Given the description of an element on the screen output the (x, y) to click on. 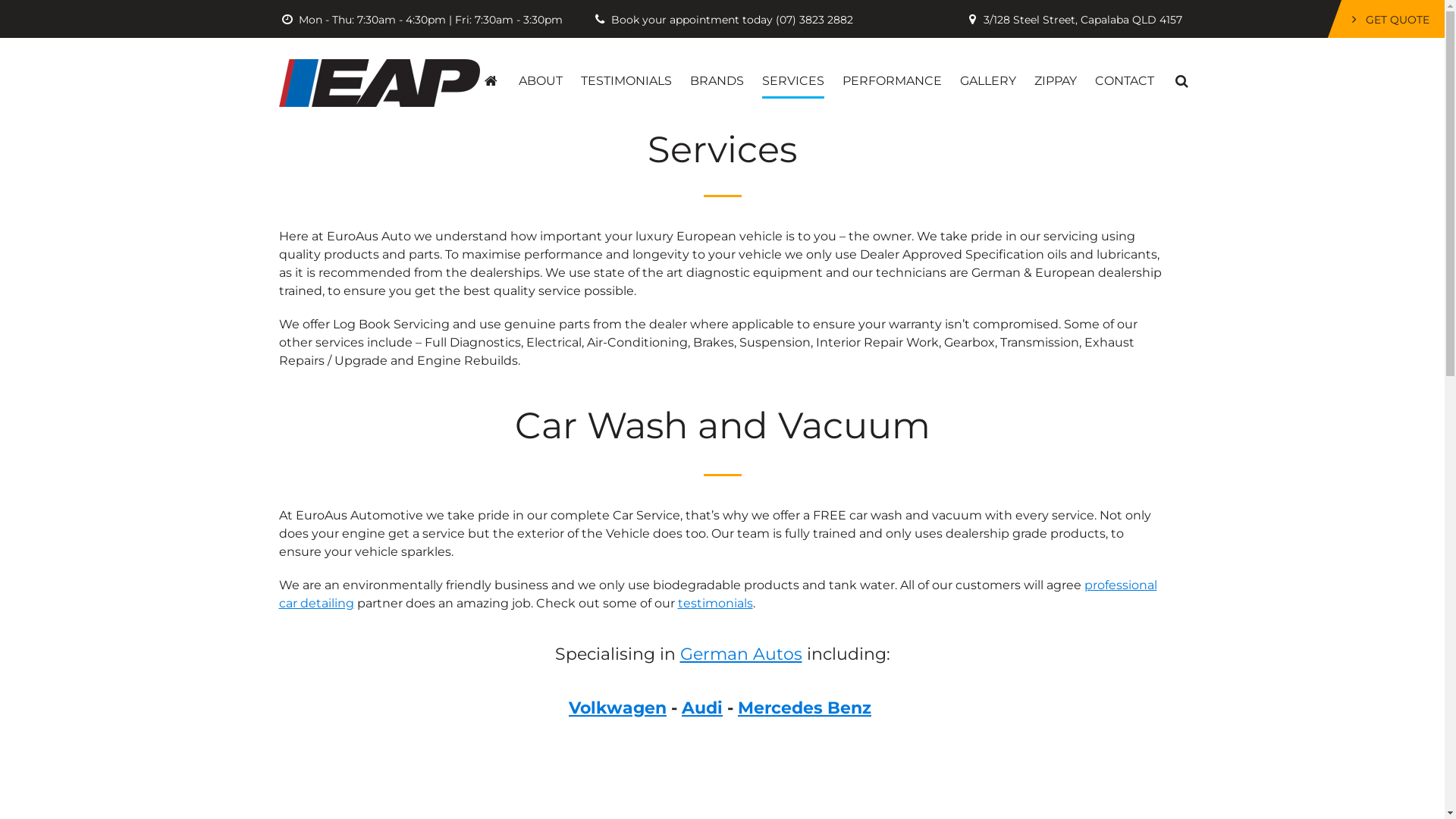
Mercedes Benz Element type: text (804, 707)
ZIPPAY Element type: text (1055, 67)
professional car detailing Element type: text (718, 593)
Audi Element type: text (701, 707)
Toggle search form Element type: hover (1181, 68)
BRANDS Element type: text (716, 67)
German Autos Element type: text (740, 653)
SERVICES Element type: text (793, 67)
GET QUOTE Element type: text (1387, 19)
ABOUT Element type: text (540, 67)
CONTACT Element type: text (1124, 67)
PERFORMANCE Element type: text (891, 67)
testimonials Element type: text (715, 603)
Home Element type: hover (490, 68)
GALLERY Element type: text (988, 67)
TESTIMONIALS Element type: text (625, 67)
Volkwagen Element type: text (617, 707)
